Given the description of an element on the screen output the (x, y) to click on. 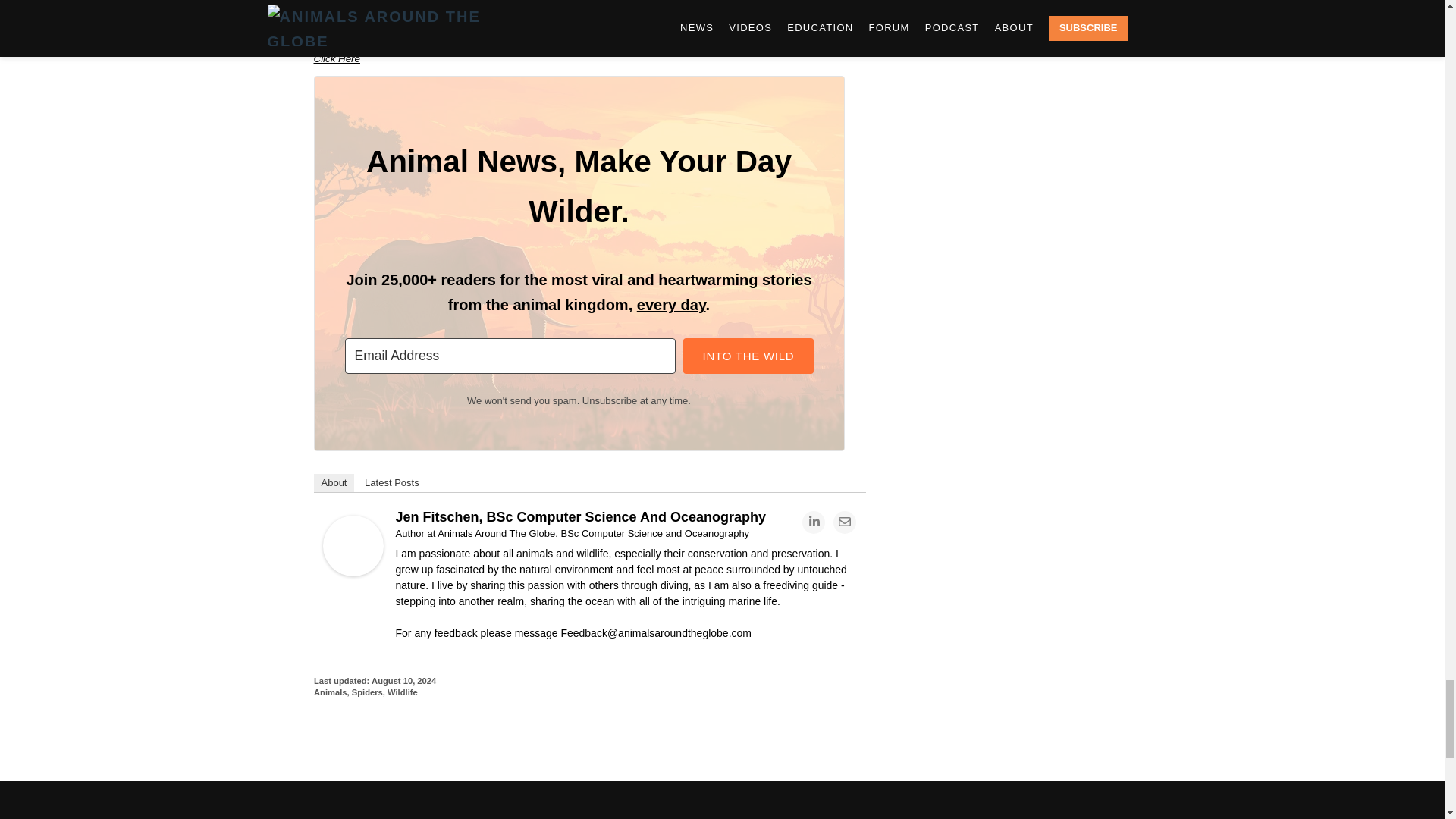
Email (844, 522)
LinkedIn (813, 522)
Jen Fitschen, BSc Computer Science and Oceanography (353, 571)
